Given the description of an element on the screen output the (x, y) to click on. 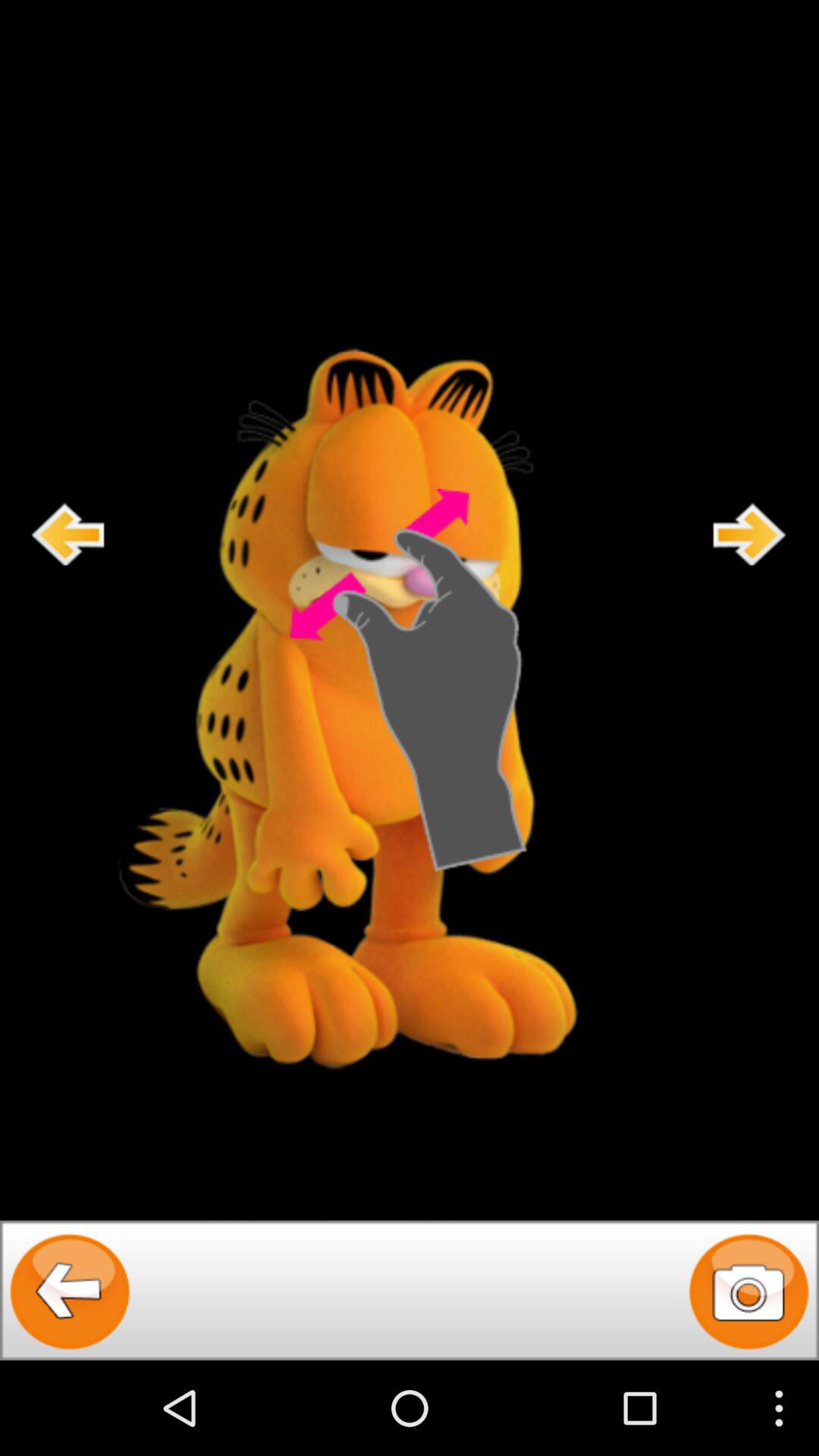
next page (750, 533)
